Given the description of an element on the screen output the (x, y) to click on. 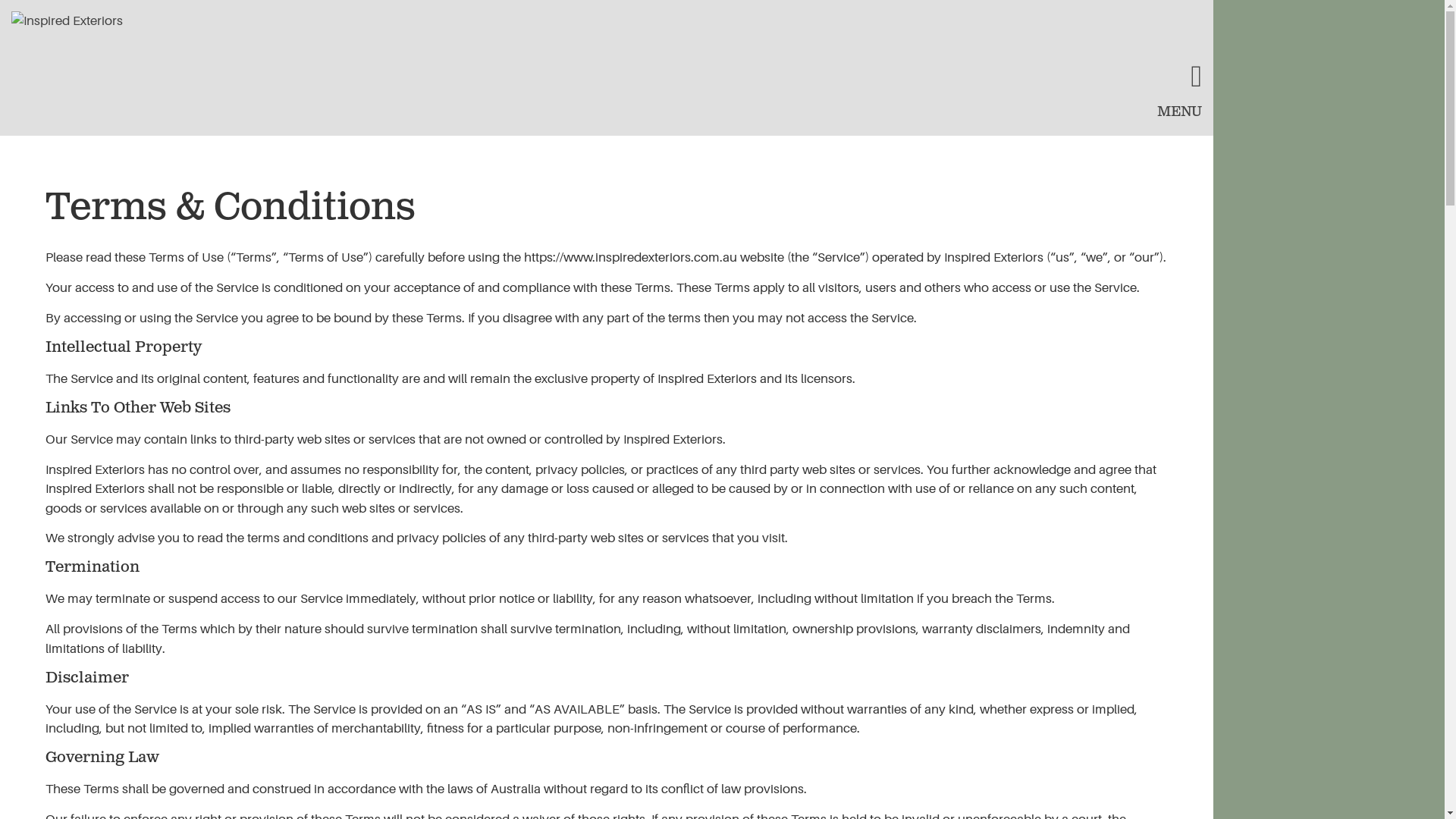
MENU Element type: text (1179, 112)
